Given the description of an element on the screen output the (x, y) to click on. 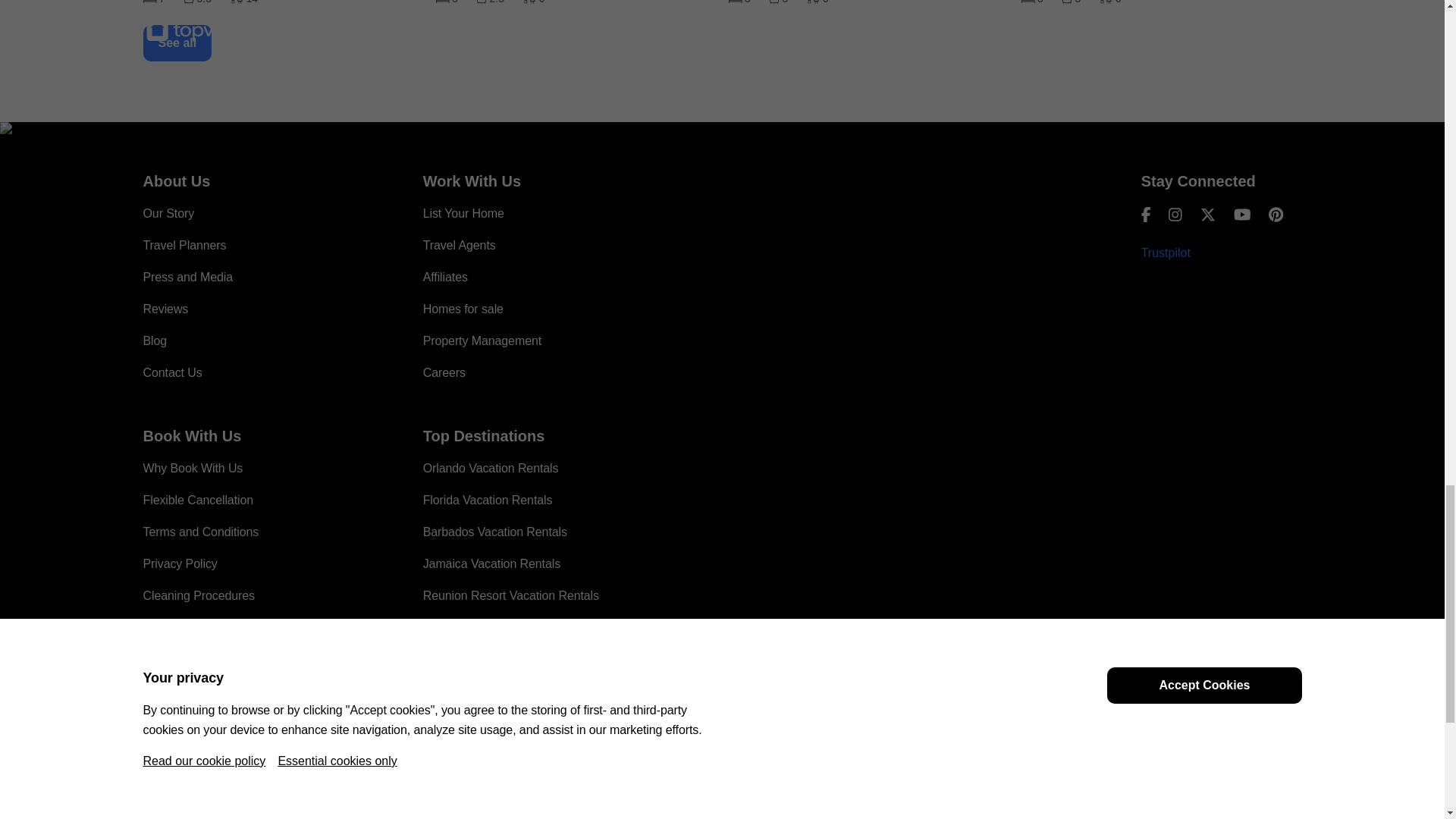
Emily House (282, 3)
Pinterest (1275, 214)
Instagram (1175, 214)
Seaview Long Beach (575, 3)
Margate Gardens 4 (868, 3)
Facebook (1146, 214)
Twitter (1207, 214)
YouTube (1241, 214)
Sapphire Beach 205 (1160, 3)
